Given the description of an element on the screen output the (x, y) to click on. 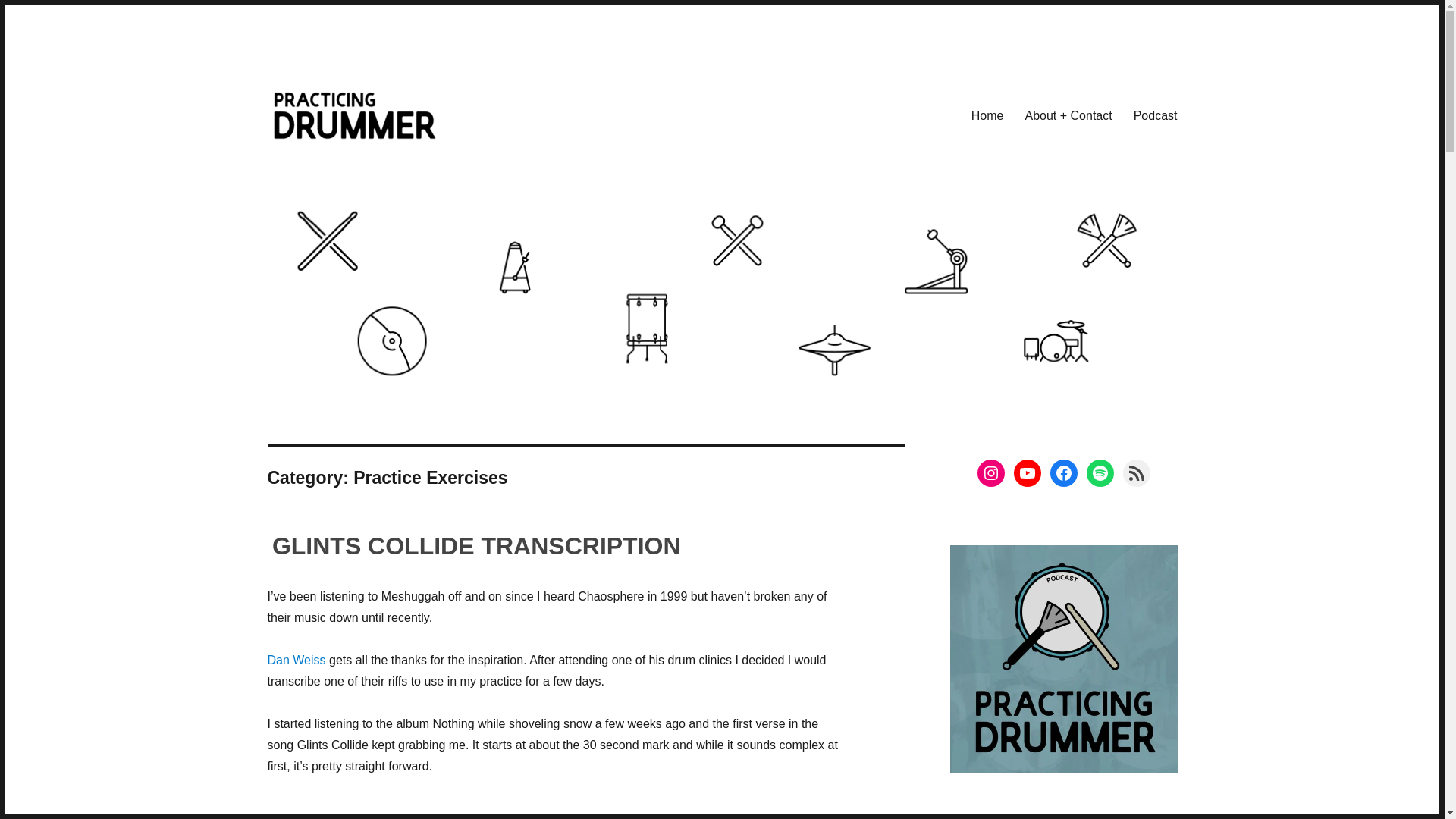
Practicing Drummer (368, 164)
Podcast (1155, 115)
Dan Weiss (295, 659)
Home (987, 115)
GLINTS COLLIDE TRANSCRIPTION (476, 545)
